Given the description of an element on the screen output the (x, y) to click on. 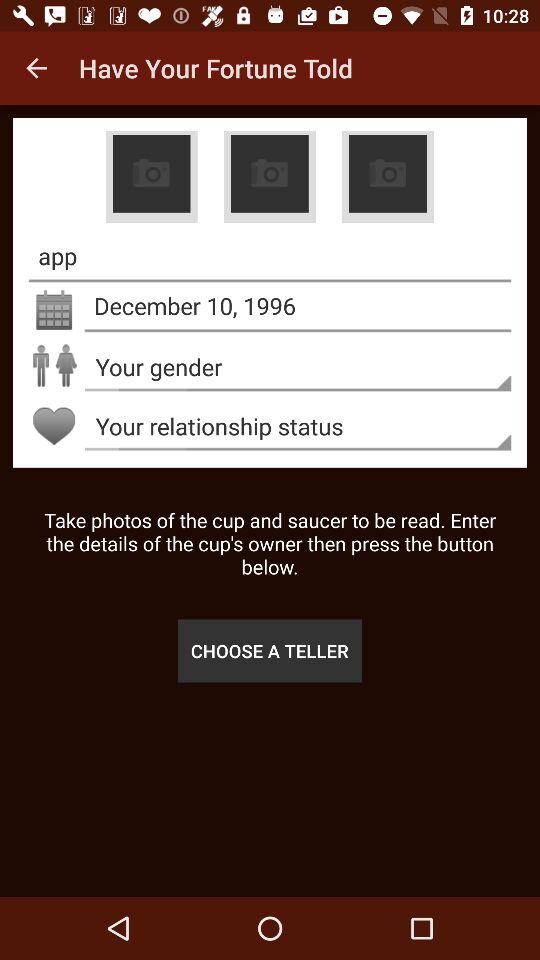
toggle a select option (269, 177)
